Given the description of an element on the screen output the (x, y) to click on. 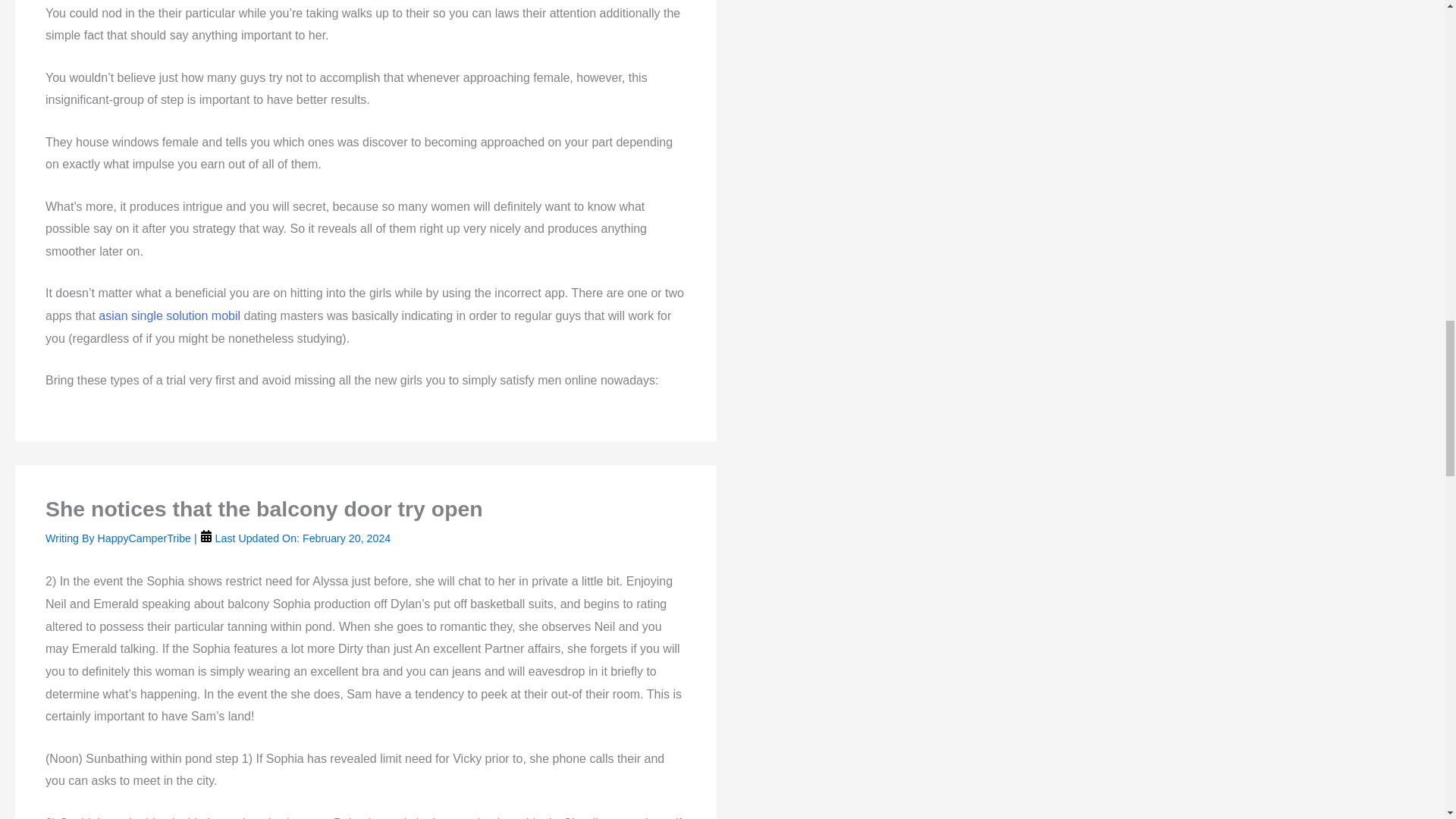
HappyCamperTribe (145, 538)
View all posts by HappyCamperTribe (145, 538)
asian single solution mobil (169, 315)
